Given the description of an element on the screen output the (x, y) to click on. 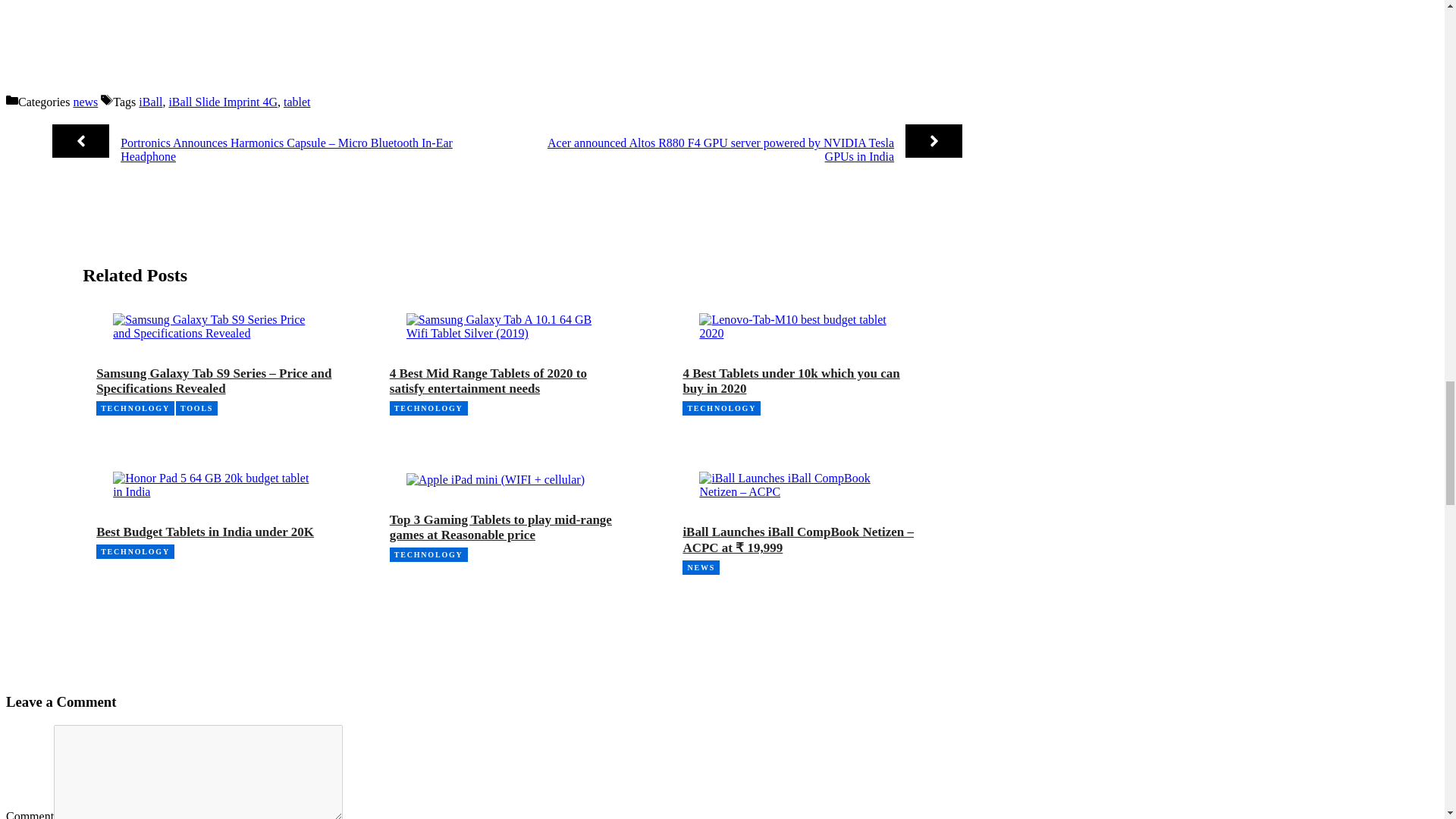
news (84, 101)
iBall (149, 101)
